Given the description of an element on the screen output the (x, y) to click on. 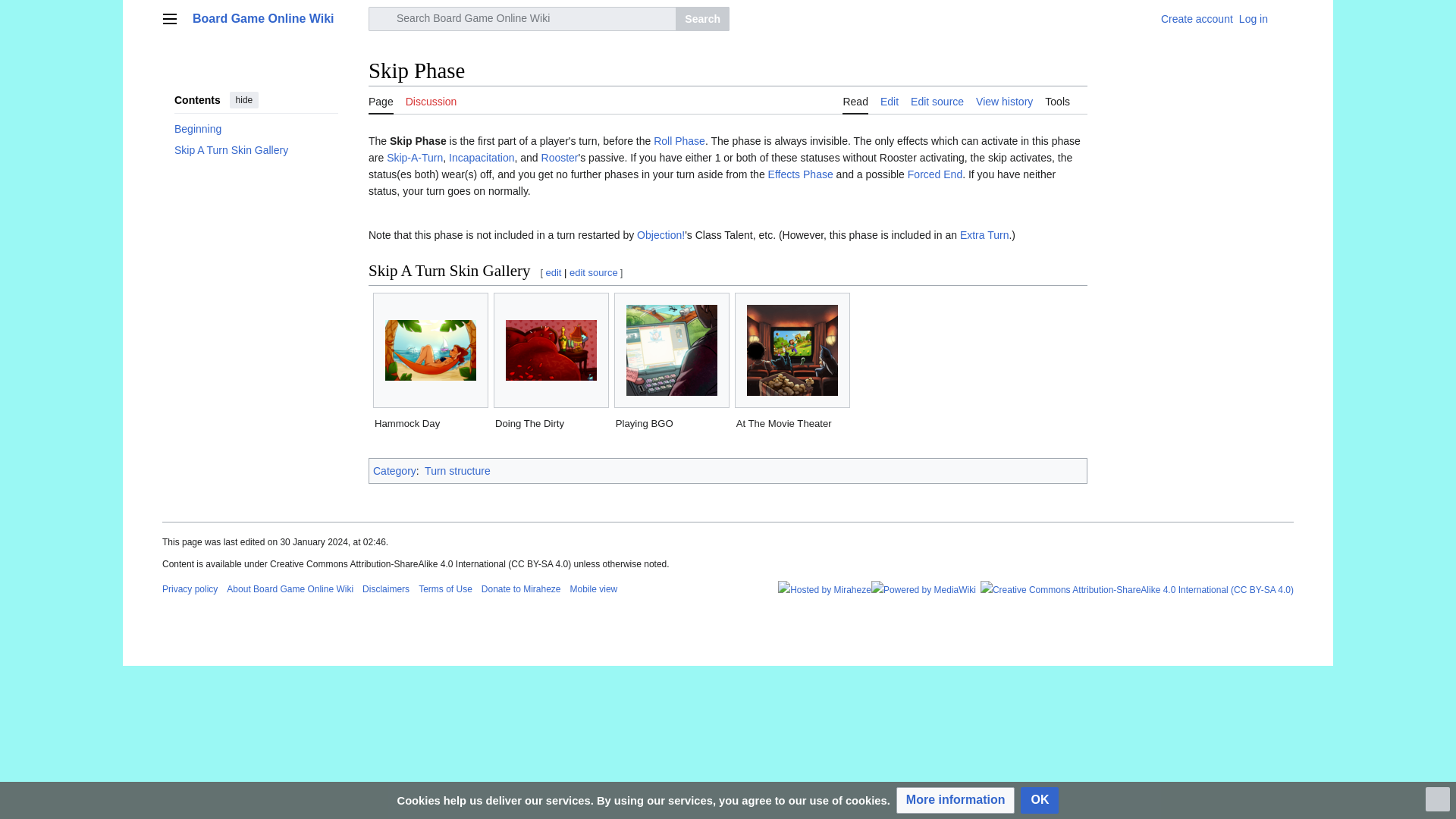
View history (1003, 100)
Page (380, 100)
Read (855, 100)
hide (244, 99)
Board Game Online Wiki (276, 18)
More options (1286, 18)
Log in (1253, 19)
Search (702, 18)
Create account (1196, 19)
Edit source (937, 100)
Edit (889, 100)
Beginning (255, 128)
Skip A Turn Skin Gallery (255, 149)
Discussion (431, 100)
